Given the description of an element on the screen output the (x, y) to click on. 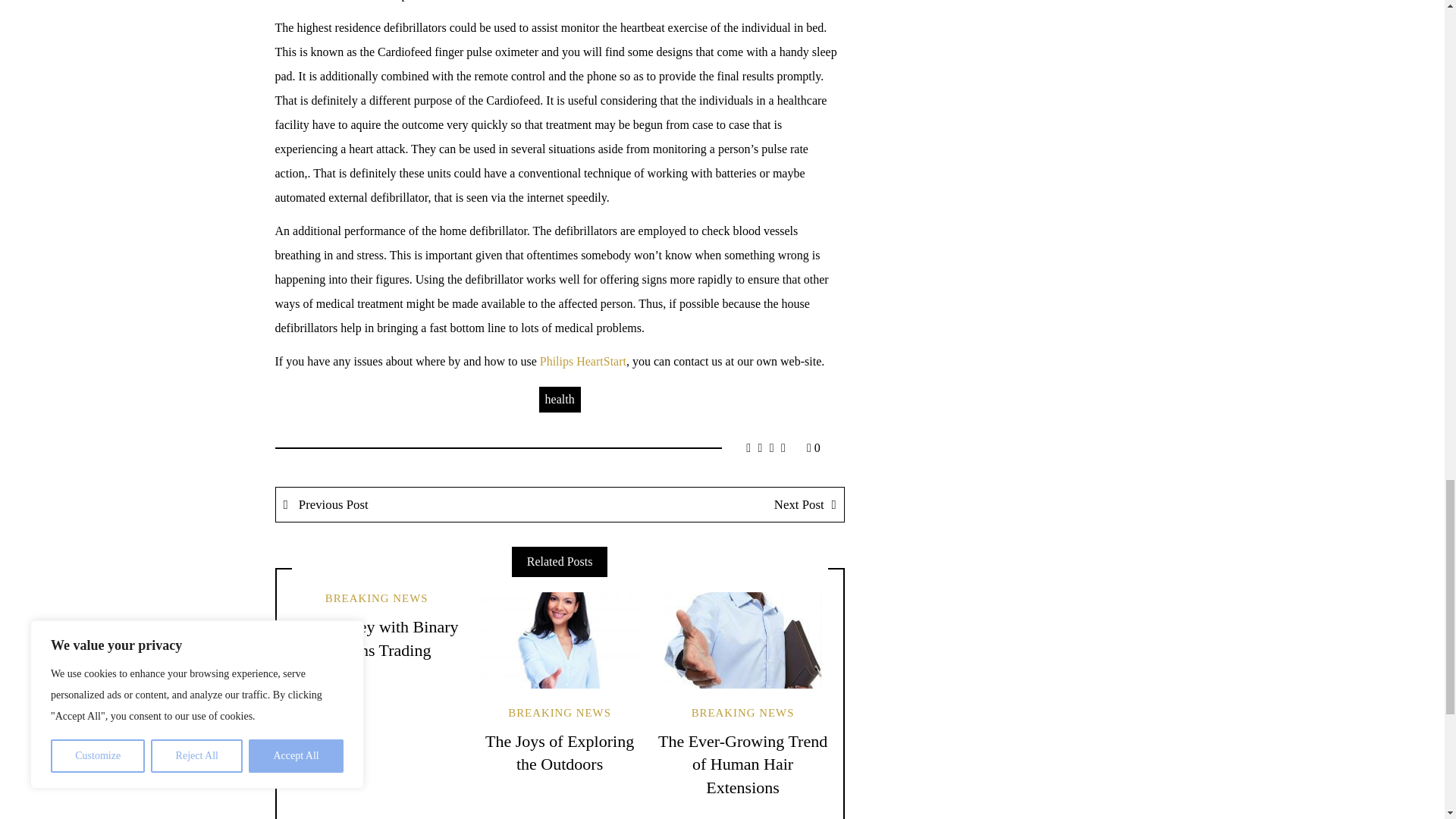
My Journey with Binary Options Trading (376, 638)
The Ever-Growing Trend of Human Hair Extensions (742, 764)
health (559, 399)
The Joys of Exploring the Outdoors (558, 752)
Permalink to: "The Joys of Exploring the Outdoors" (559, 639)
Philips HeartStart (583, 360)
